Given the description of an element on the screen output the (x, y) to click on. 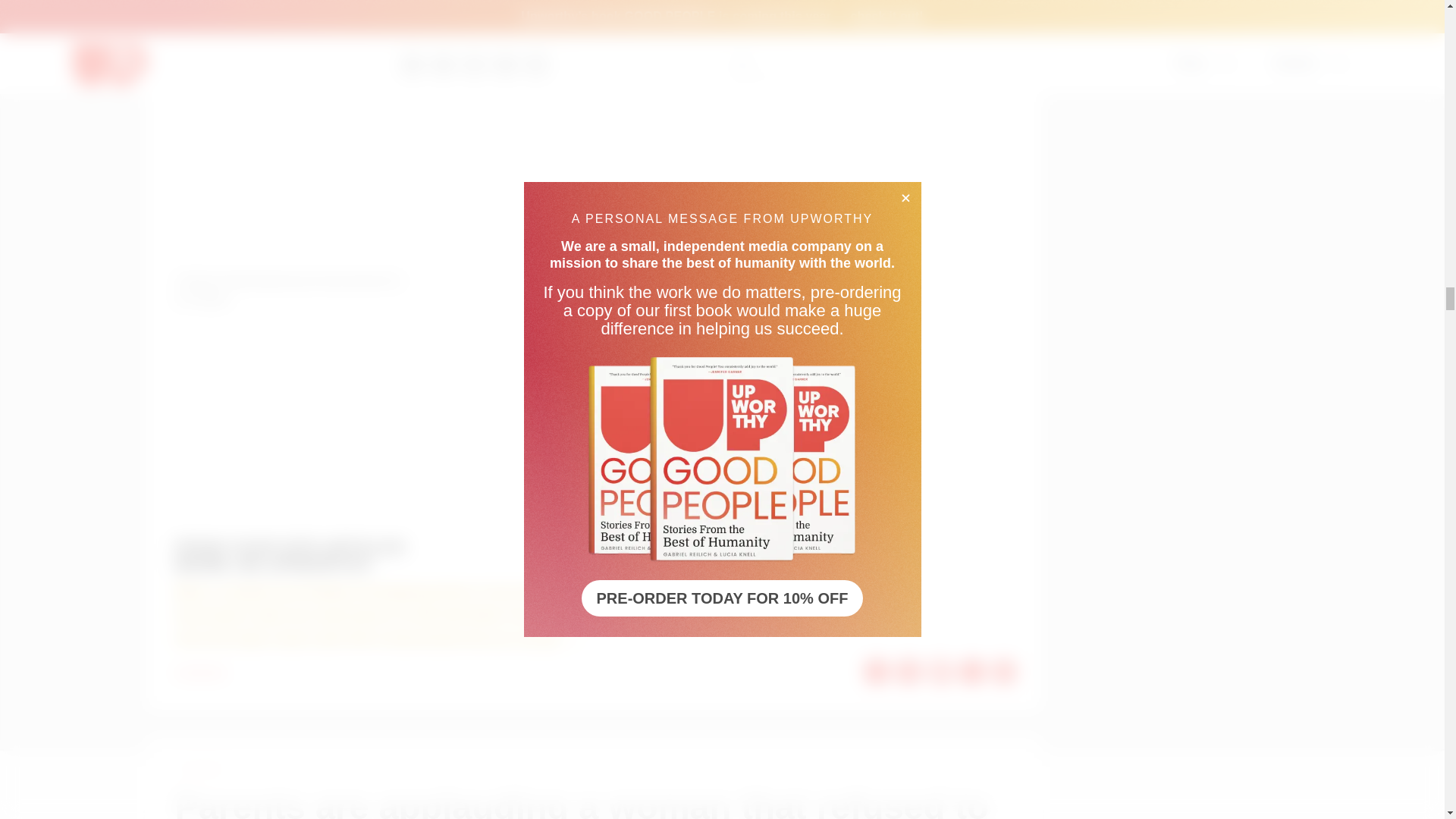
Copy this link to clipboard (1003, 671)
